Given the description of an element on the screen output the (x, y) to click on. 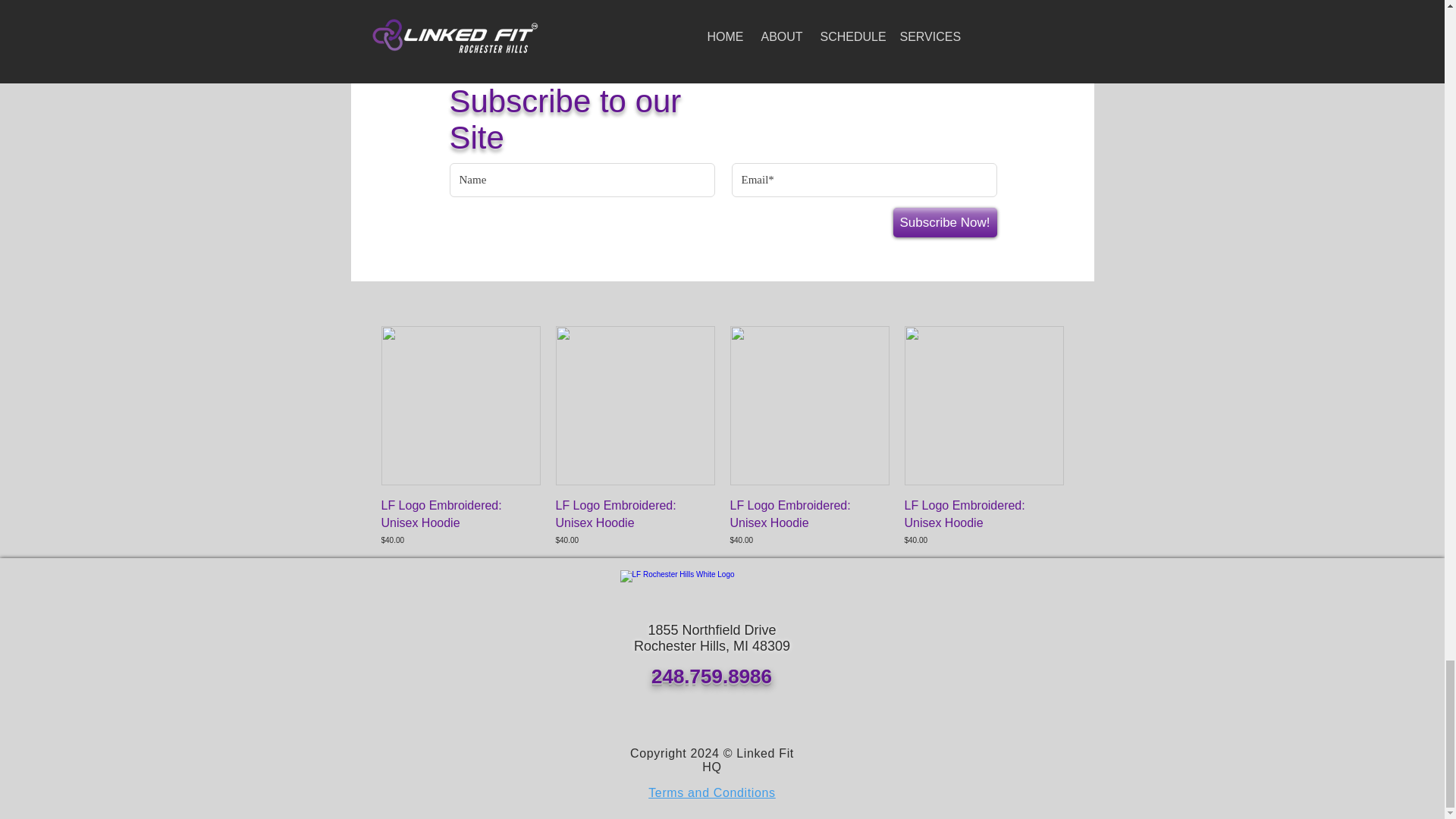
Subscribe Now! (945, 222)
